Given the description of an element on the screen output the (x, y) to click on. 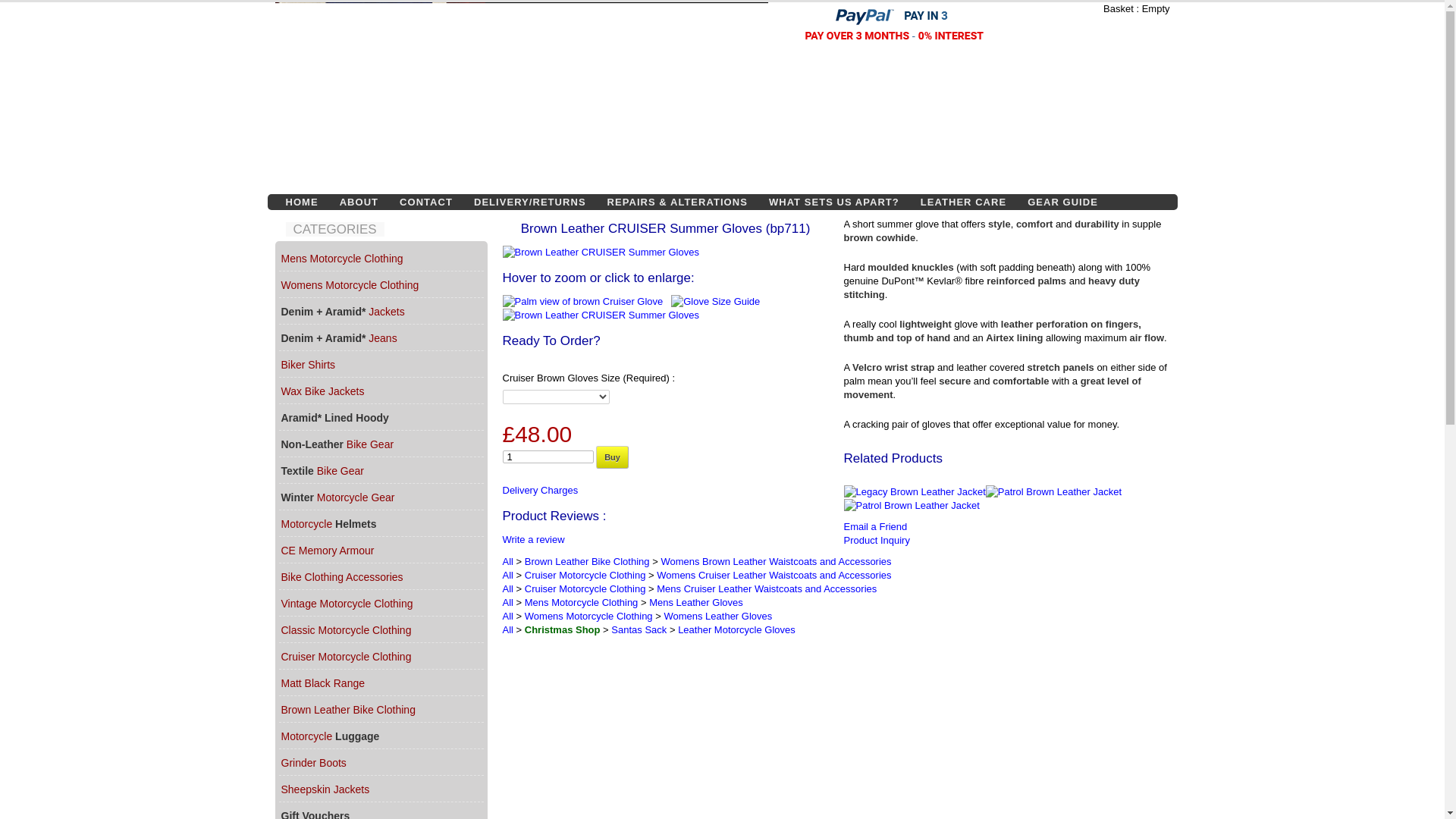
GEAR GUIDE (1062, 202)
Brown Leather CRUISER Summer Gloves (601, 315)
LEATHER CARE (963, 202)
CONTACT (425, 202)
WHAT SETS US APART? (834, 202)
HOME (302, 202)
ABOUT (358, 202)
Mens Motorcycle Clothing (381, 257)
Buy (611, 456)
1 (547, 456)
Delivery Charges (540, 490)
Palm view of brown Cruiser Glove (583, 301)
Brown Leather CRUISER Summer Gloves (665, 252)
Womens Motorcycle Clothing (381, 283)
Glove Size Guide (716, 301)
